Given the description of an element on the screen output the (x, y) to click on. 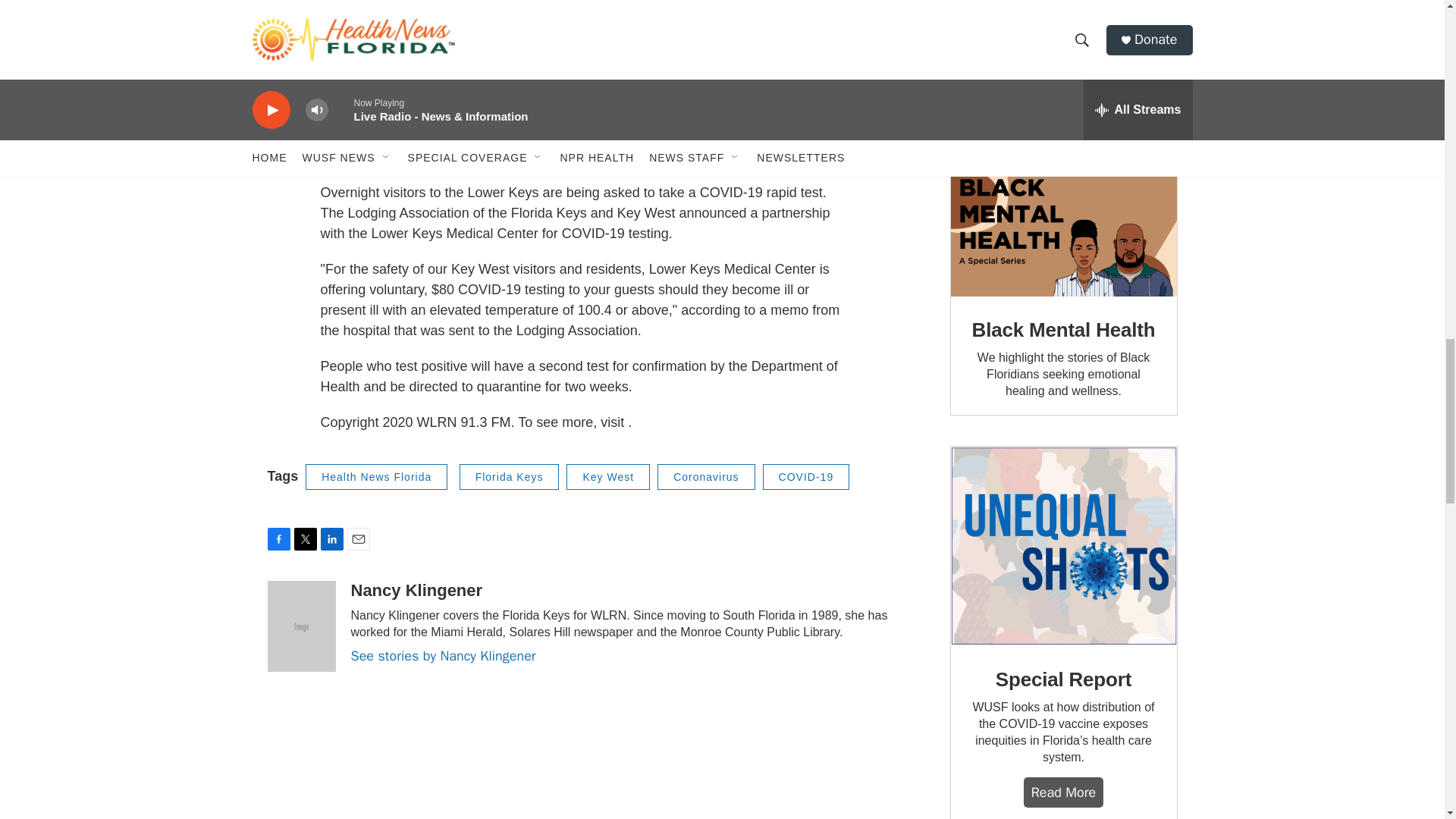
3rd party ad content (1062, 69)
